Given the description of an element on the screen output the (x, y) to click on. 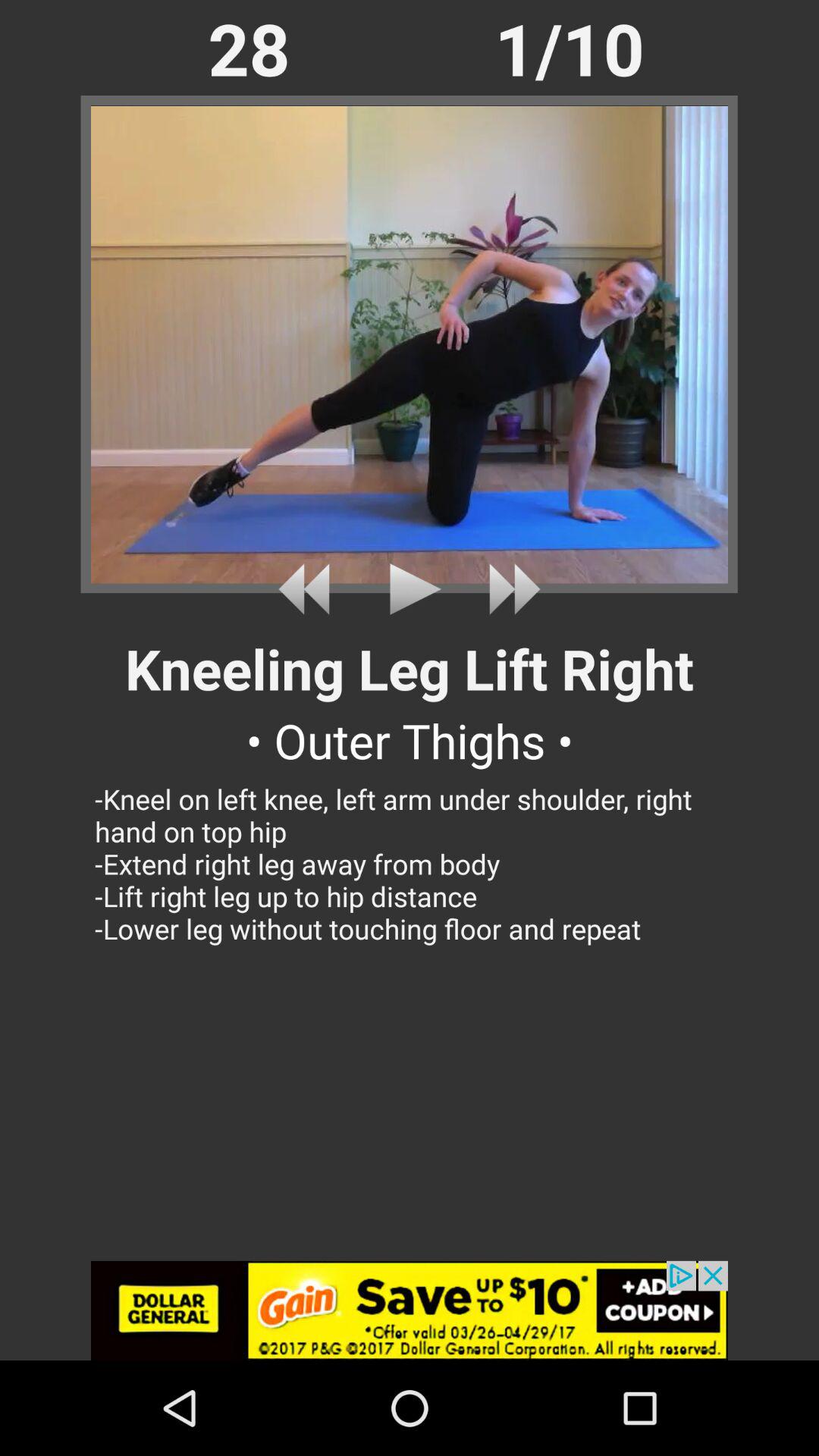
go to previous step (309, 589)
